Given the description of an element on the screen output the (x, y) to click on. 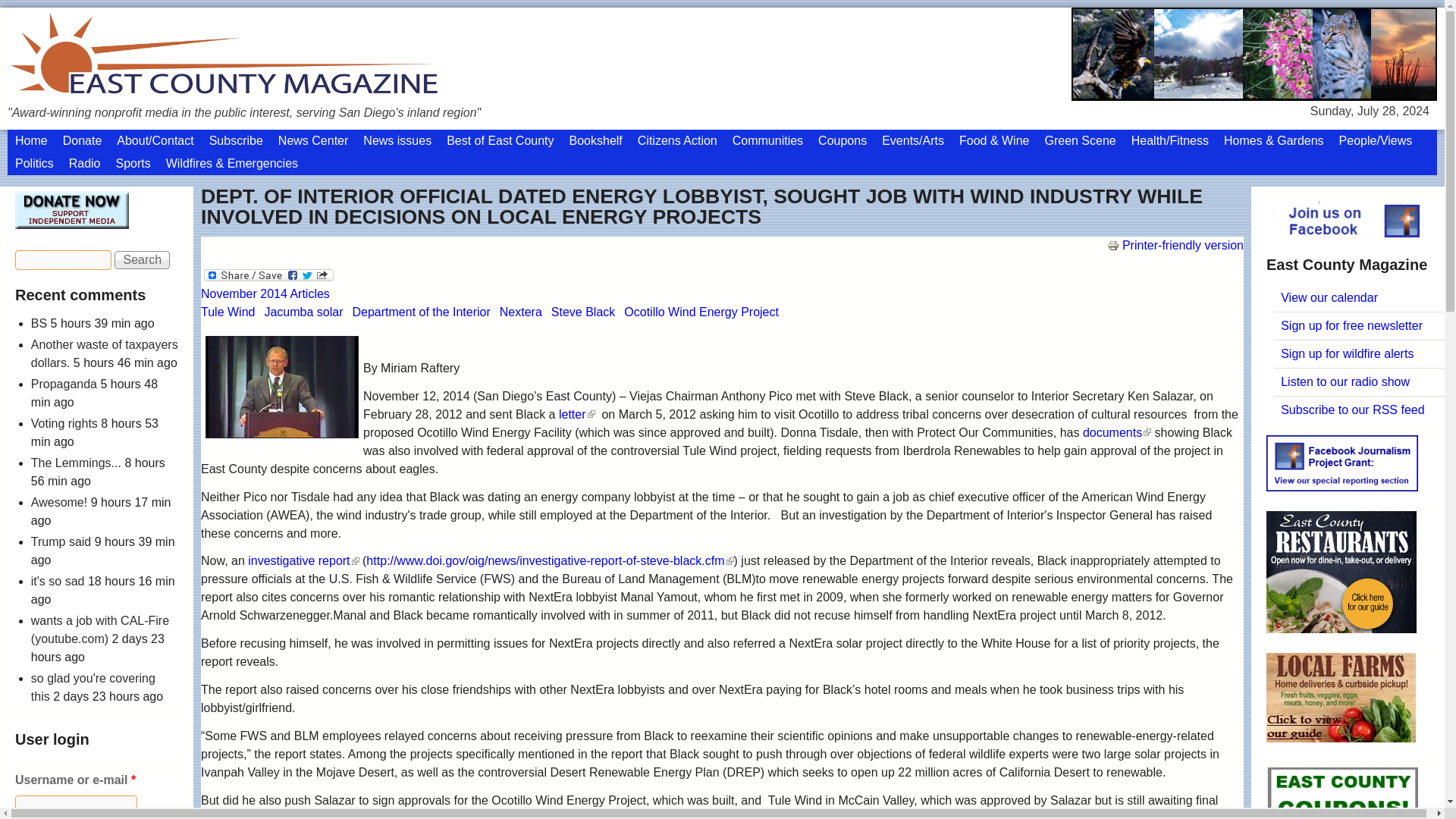
Home (31, 140)
News issues (397, 140)
Subscribe (236, 140)
News Center (312, 140)
Donate (82, 140)
Search (142, 259)
Best of East County (499, 140)
